Given the description of an element on the screen output the (x, y) to click on. 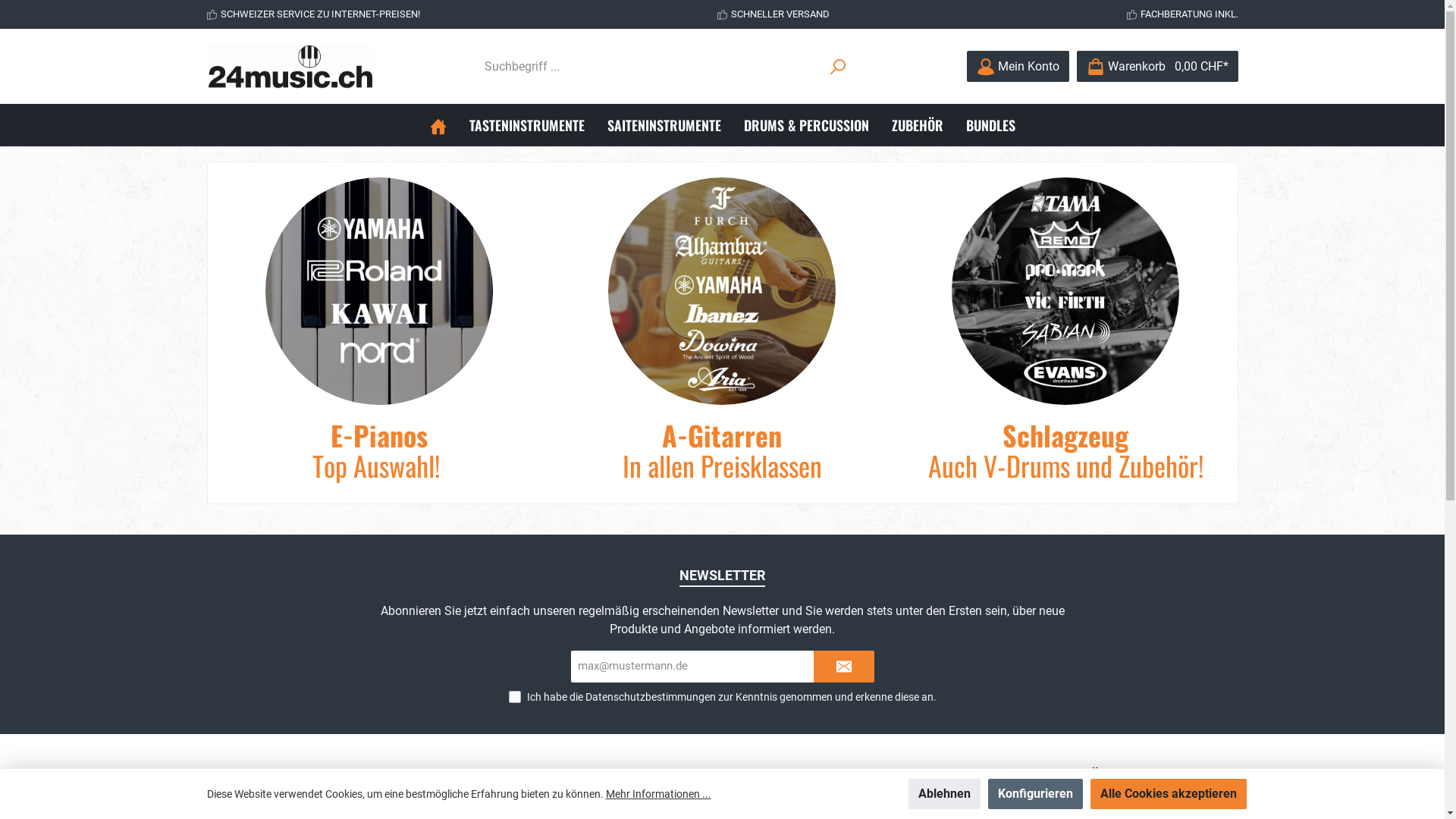
Datenschutzbestimmungen Element type: text (650, 696)
Ablehnen Element type: text (944, 793)
Mehr Informationen ... Element type: text (657, 793)
Mein Konto Element type: text (1017, 65)
SAITENINSTRUMENTE Element type: text (664, 124)
BUNDLES Element type: text (989, 124)
TASTENINSTRUMENTE Element type: text (527, 124)
Warenkorb 0,00 CHF* Element type: text (1157, 65)
Zur Startseite wechseln Element type: hover (289, 66)
SHOP SERVICE Element type: text (517, 774)
Home Element type: hover (438, 124)
DRUMS & PERCUSSION Element type: text (806, 124)
INFORMATIONEN Element type: text (790, 774)
Alle Cookies akzeptieren Element type: text (1168, 793)
Konfigurieren Element type: text (1034, 793)
